Given the description of an element on the screen output the (x, y) to click on. 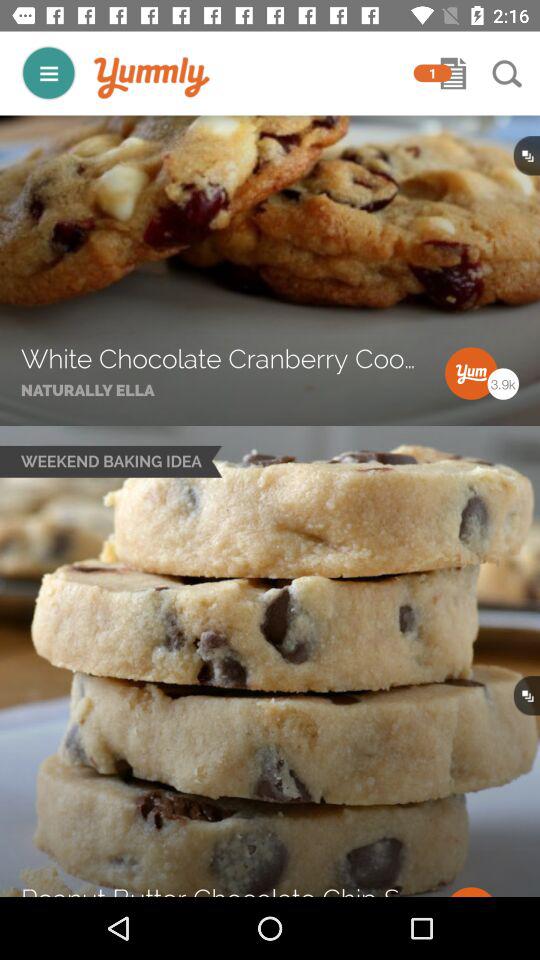
toggle autoplay option (48, 72)
